Given the description of an element on the screen output the (x, y) to click on. 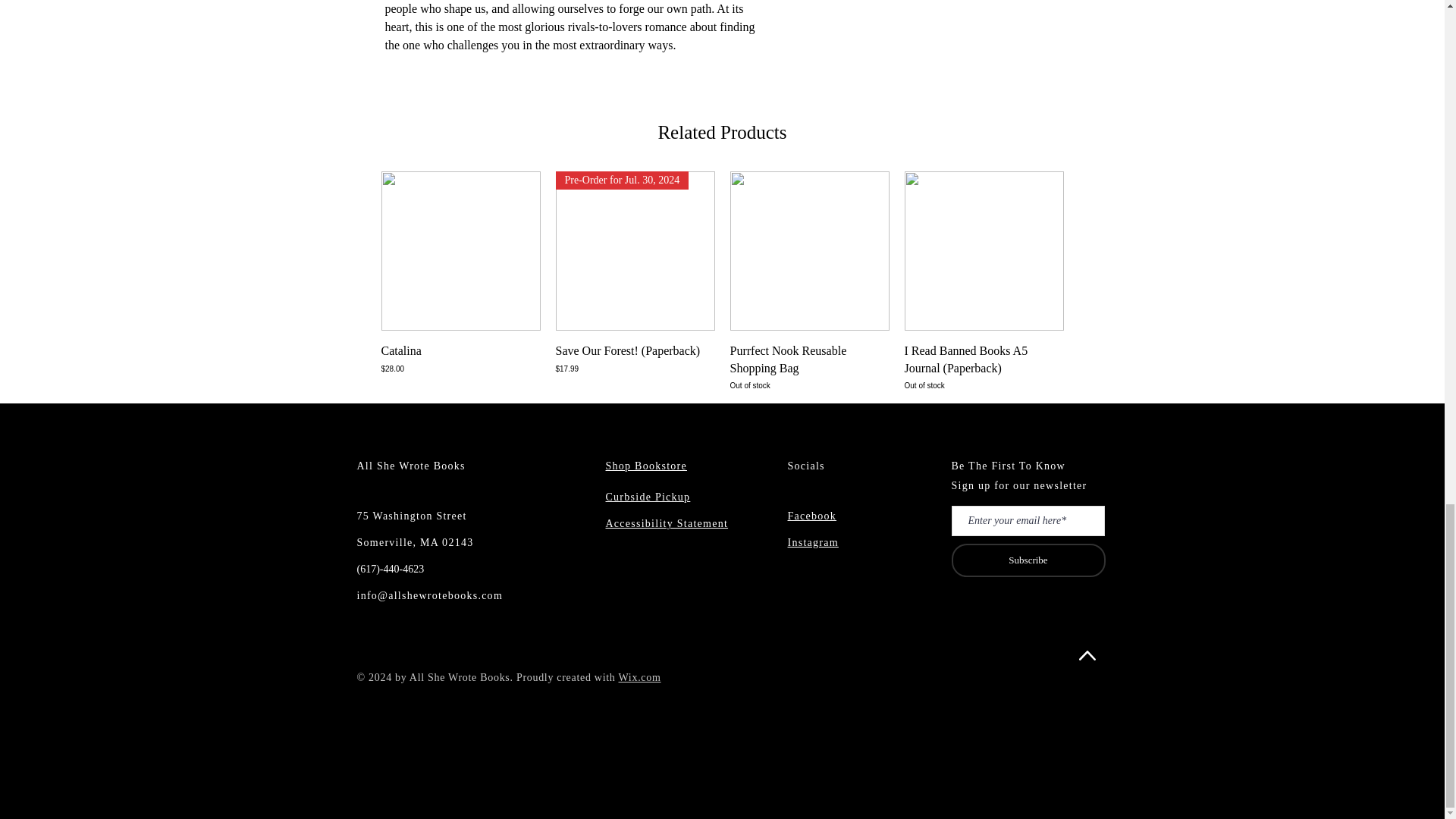
Pre-Order for Jul. 30, 2024 (808, 367)
